Given the description of an element on the screen output the (x, y) to click on. 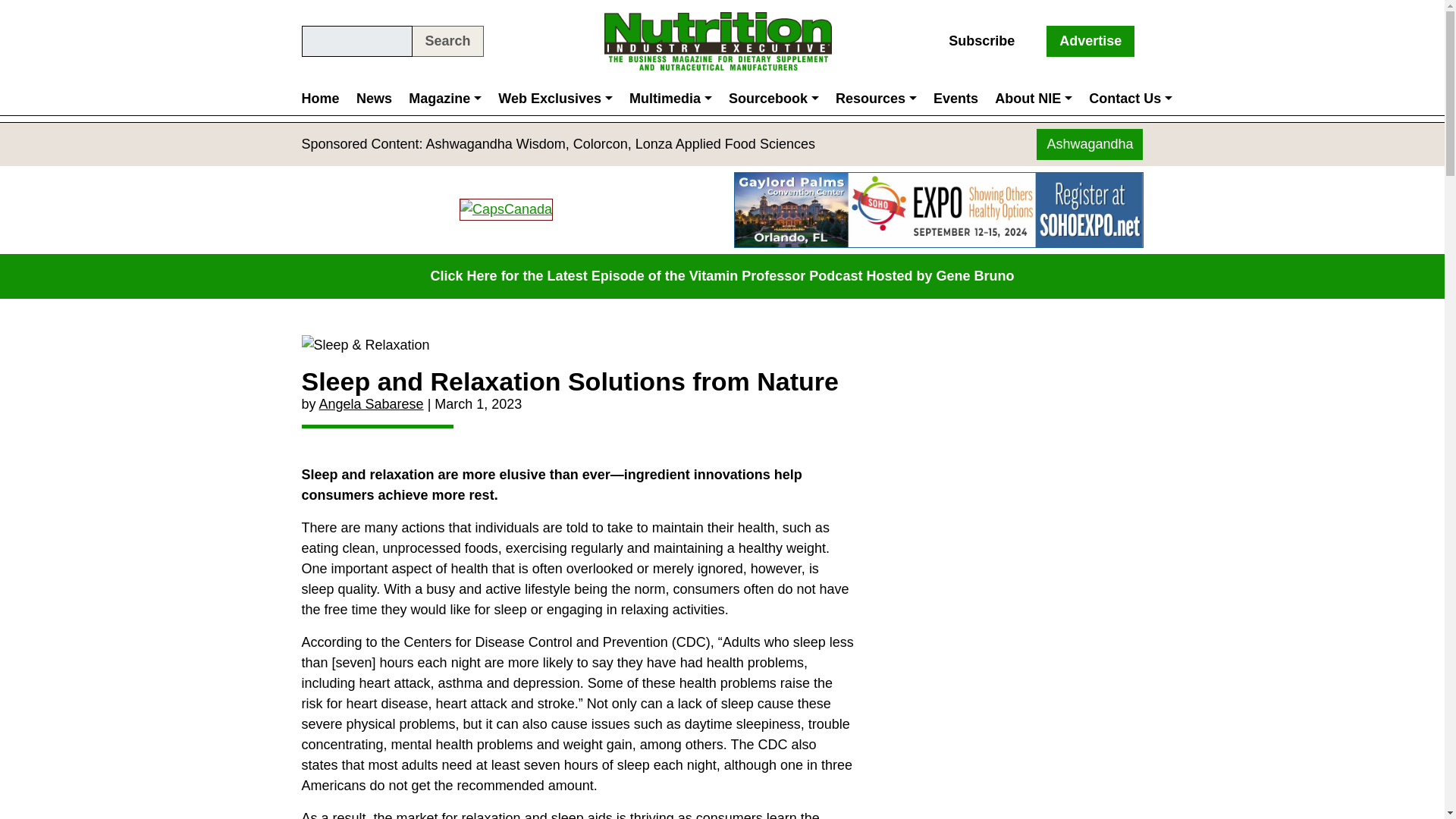
Search (447, 40)
Contact Us (1130, 98)
Multimedia (670, 98)
About NIE (1033, 98)
Resources (875, 98)
Resources (875, 98)
Home (324, 98)
Home (324, 98)
Magazine (444, 98)
Web Exclusives (555, 98)
Events (955, 98)
Advertise (1090, 40)
Magazine (444, 98)
Sourcebook (773, 98)
News (373, 98)
